Given the description of an element on the screen output the (x, y) to click on. 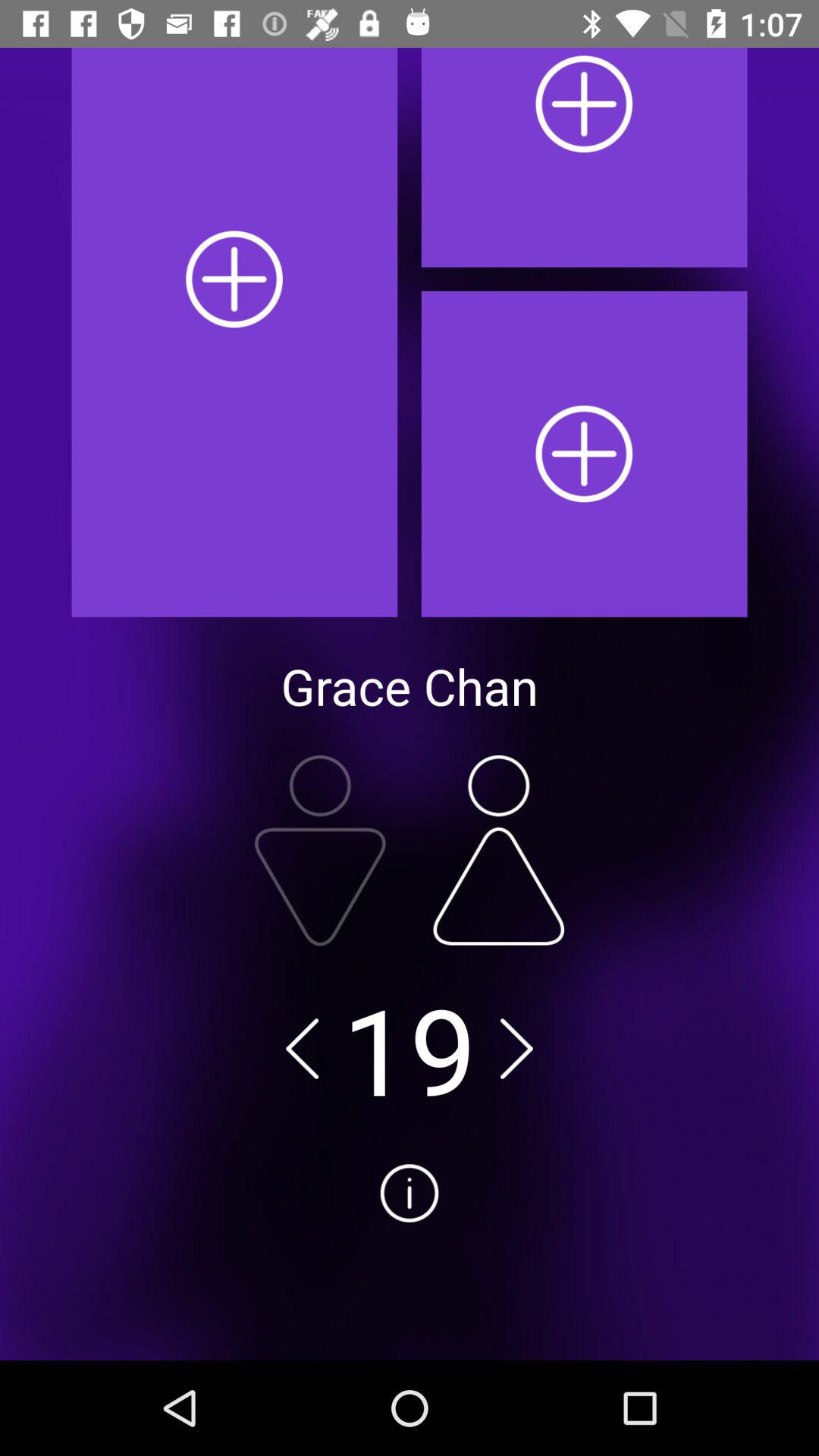
go to previous number (302, 1048)
